Given the description of an element on the screen output the (x, y) to click on. 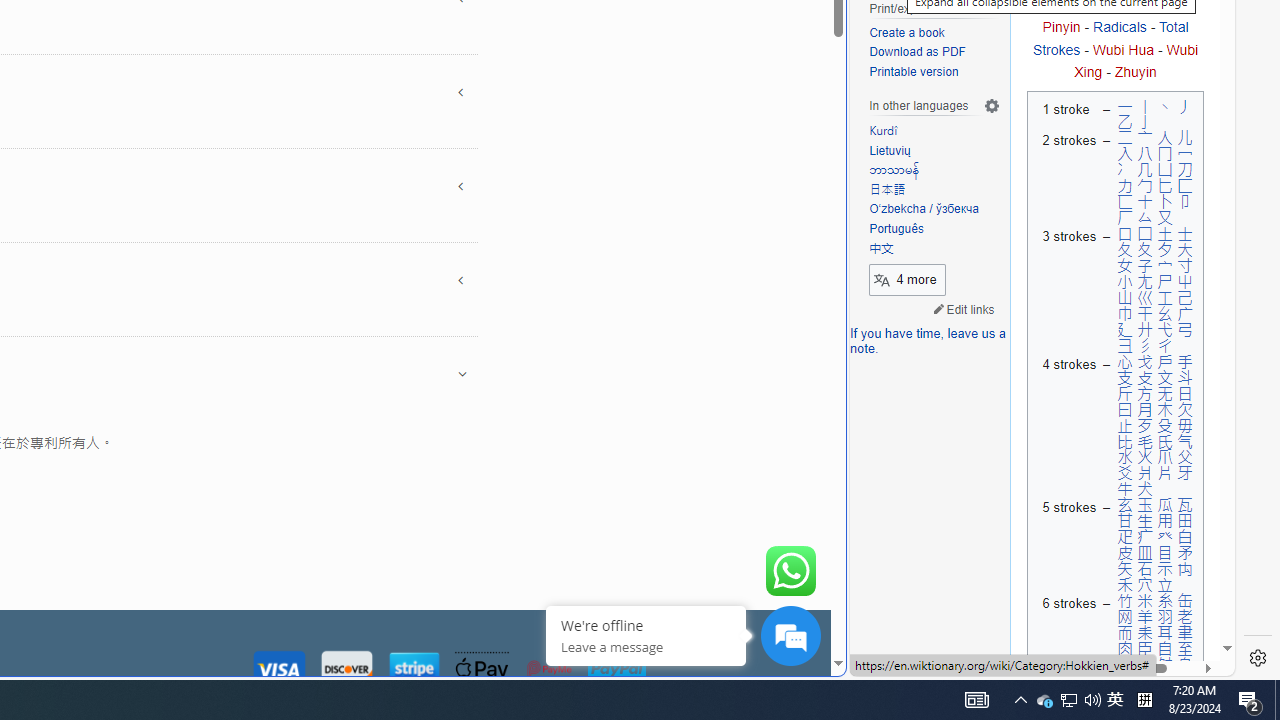
Radicals (1119, 27)
Language settings (992, 106)
Download as PDF (917, 51)
